Given the description of an element on the screen output the (x, y) to click on. 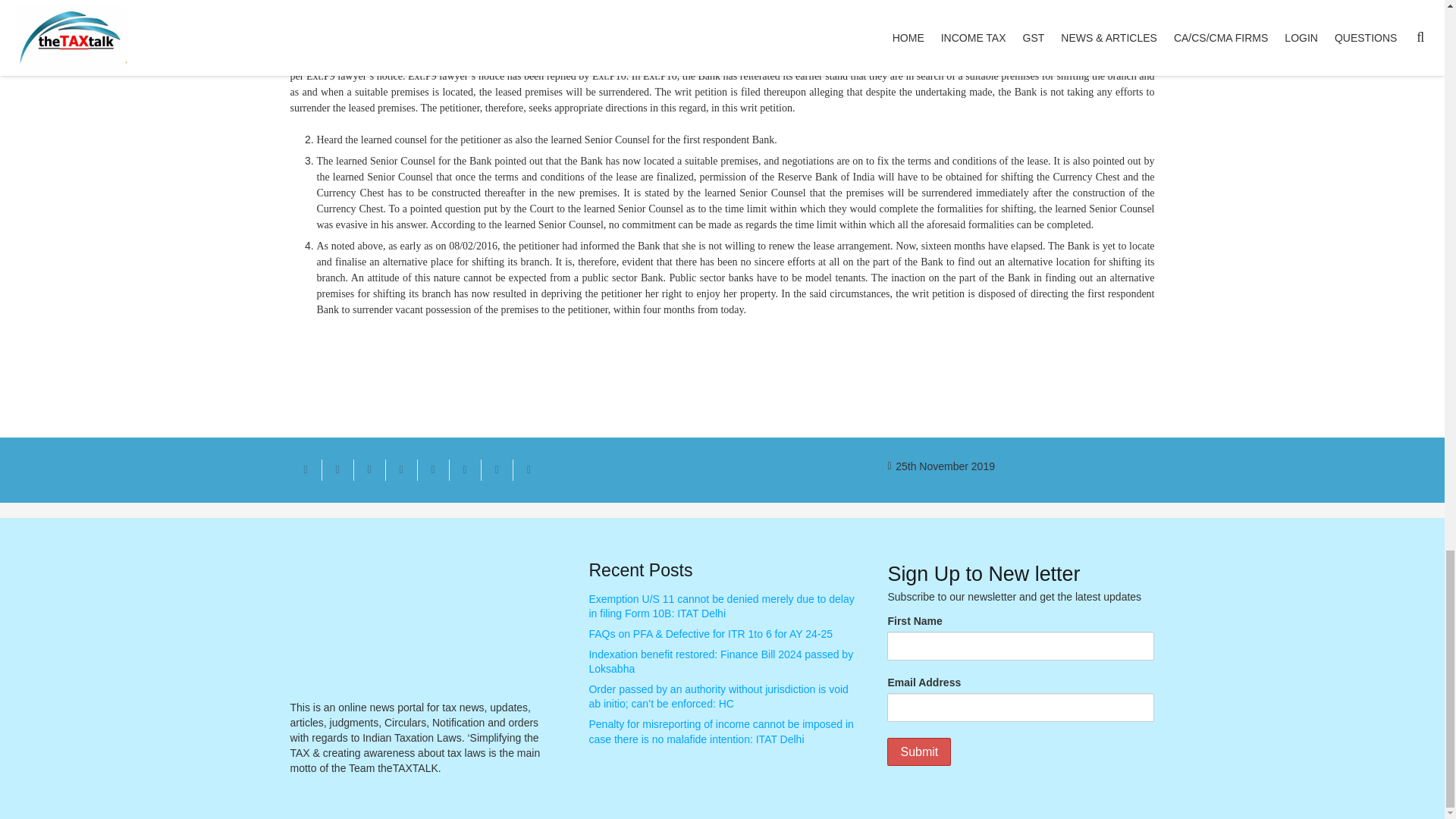
Share this (400, 469)
Share this (464, 469)
Share this (528, 469)
Share this (337, 469)
Submit (918, 751)
Pin this (432, 469)
Share this (496, 469)
Email this (305, 469)
Tweet this (369, 469)
